Given the description of an element on the screen output the (x, y) to click on. 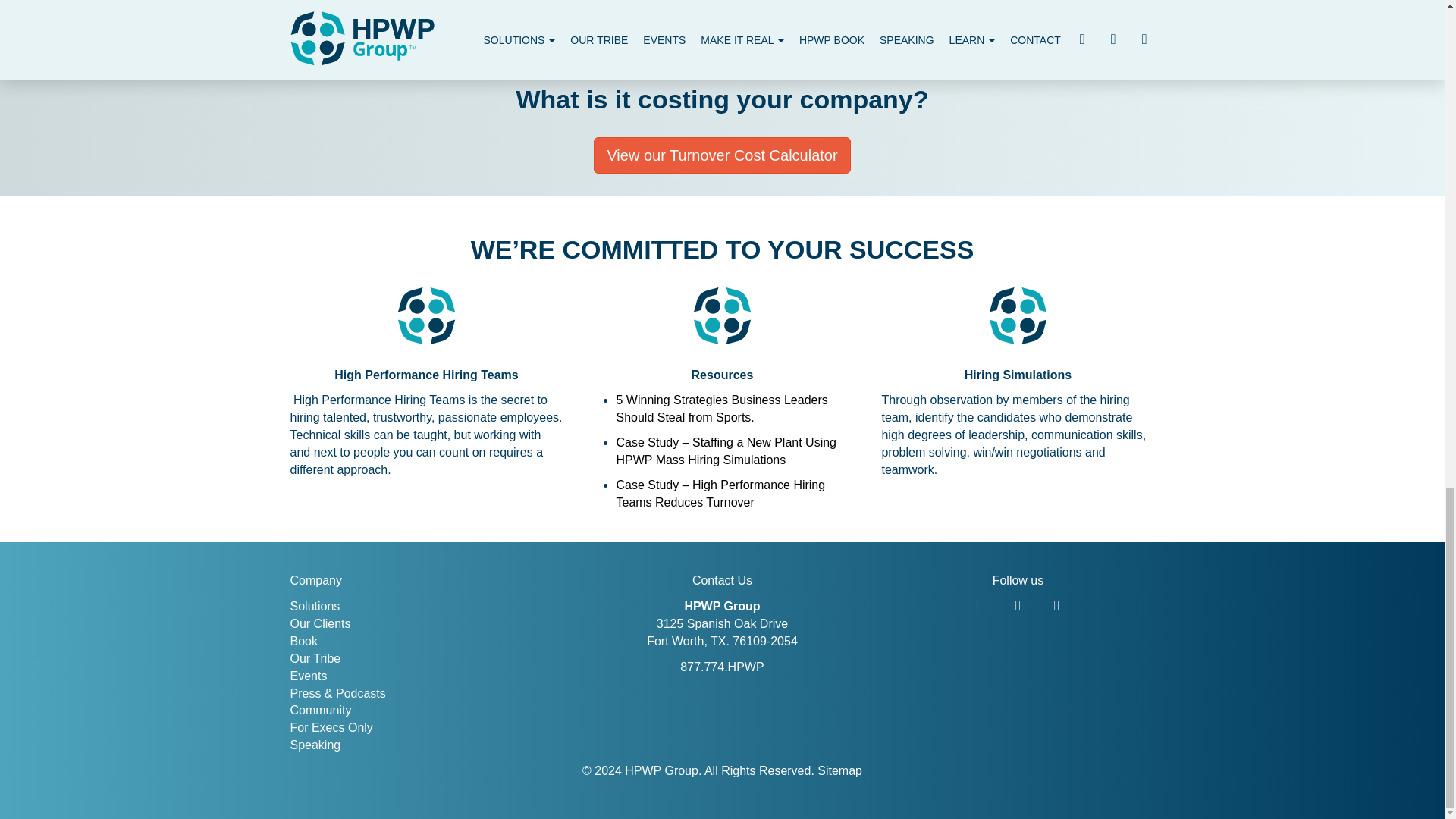
Community (319, 709)
Book (303, 640)
Our Clients (319, 623)
Contact Us (722, 580)
View our Turnover Cost Calculator (722, 155)
Solutions (314, 605)
877.774.HPWP (720, 666)
Our Tribe (314, 658)
For Execs Only (330, 727)
Speaking (314, 744)
Events (307, 675)
